Given the description of an element on the screen output the (x, y) to click on. 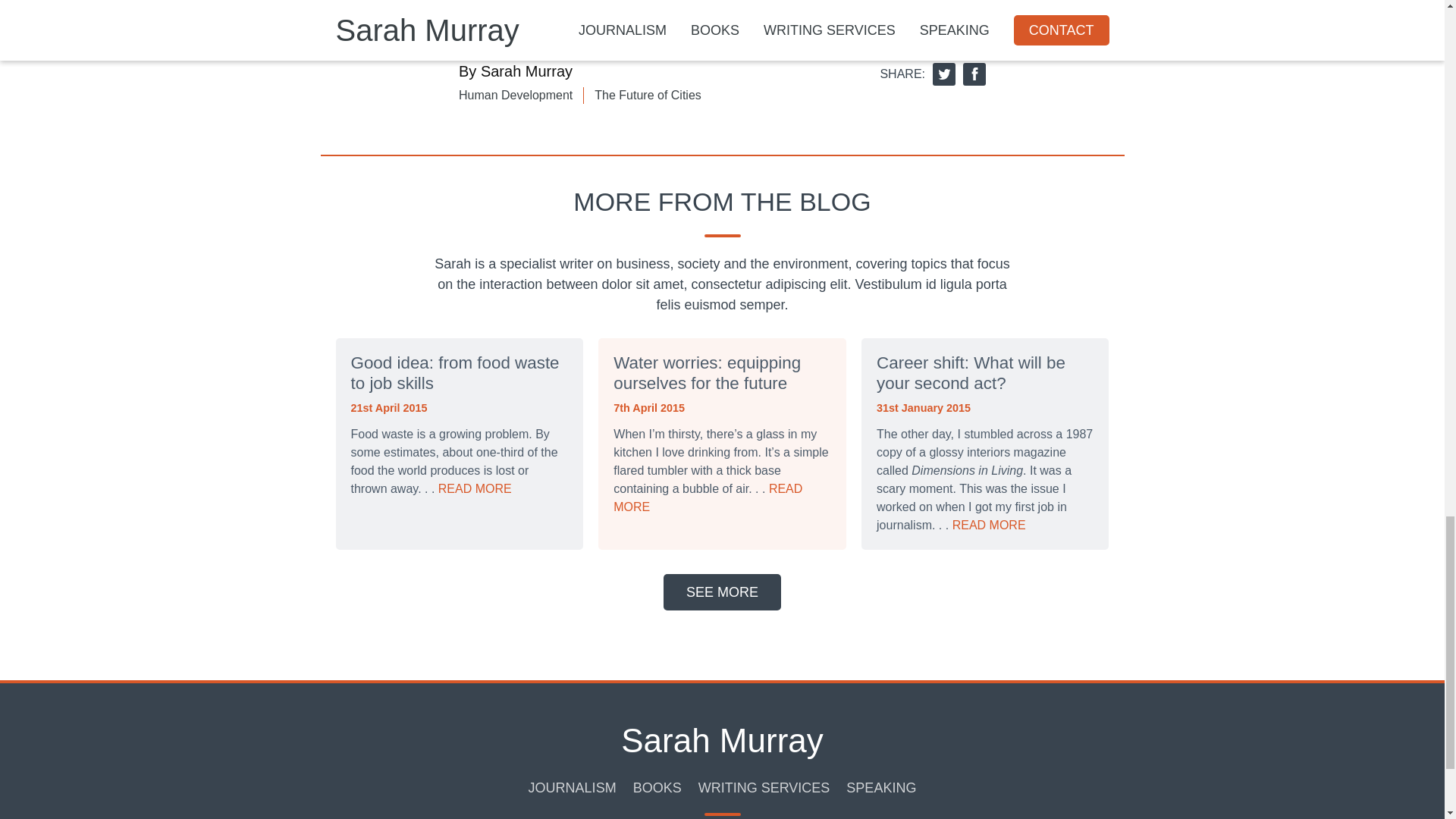
SPEAKING (880, 788)
BOOKS (657, 788)
WRITING SERVICES (763, 788)
Human Development (515, 95)
SEE MORE (721, 592)
this post (547, 2)
The Future of Cities (647, 95)
JOURNALISM (571, 788)
